Given the description of an element on the screen output the (x, y) to click on. 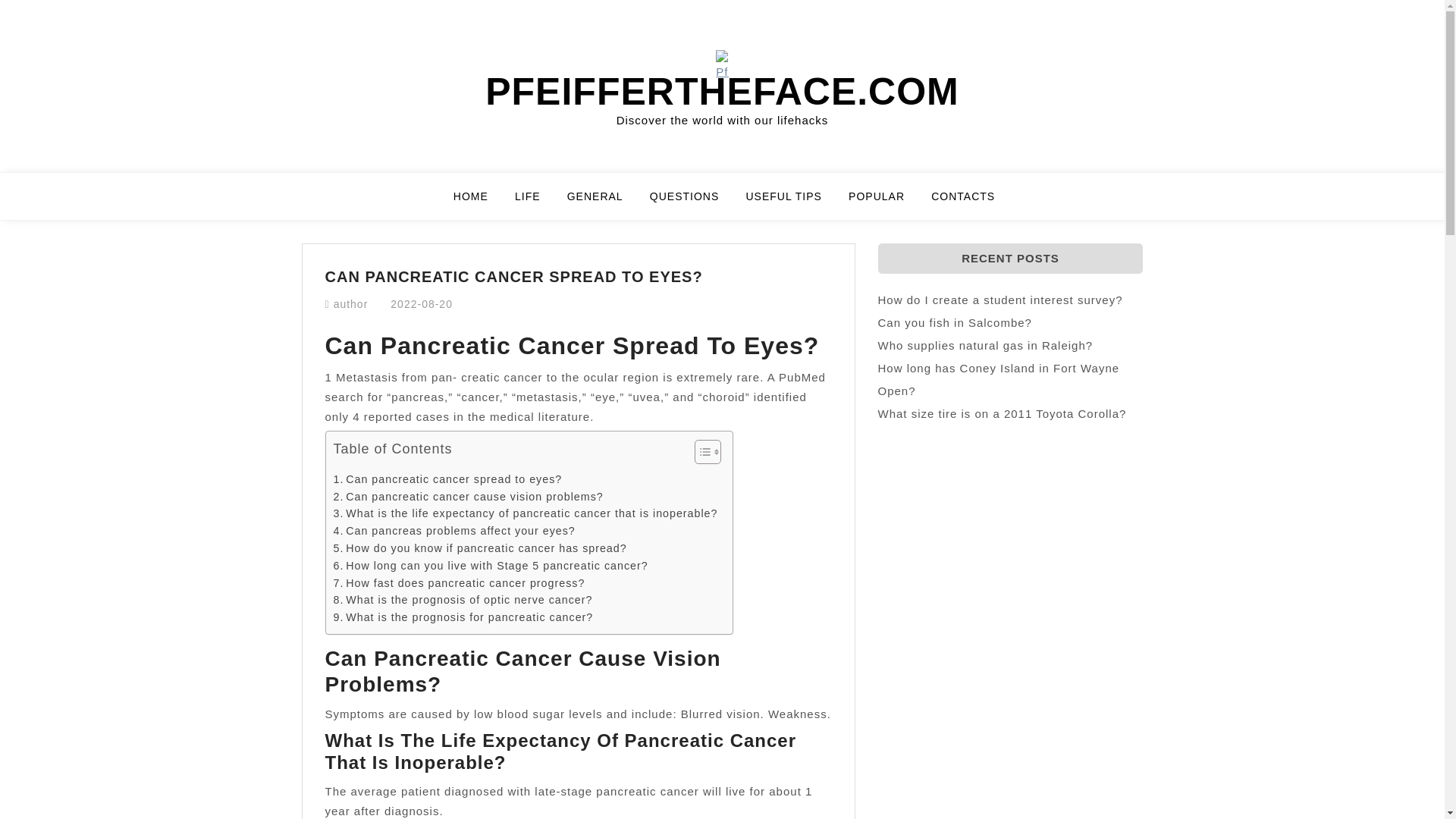
LIFE (537, 203)
PFEIFFERTHEFACE.COM (721, 91)
How fast does pancreatic cancer progress? (459, 583)
How do you know if pancreatic cancer has spread? (480, 548)
What is the prognosis of optic nerve cancer? (462, 600)
HOME (479, 203)
Who supplies natural gas in Raleigh? (985, 345)
What is the prognosis of optic nerve cancer? (462, 600)
QUESTIONS (693, 203)
Can you fish in Salcombe? (954, 322)
What is the prognosis for pancreatic cancer? (463, 617)
Can pancreatic cancer spread to eyes? (447, 479)
Can pancreatic cancer spread to eyes? (447, 479)
